Given the description of an element on the screen output the (x, y) to click on. 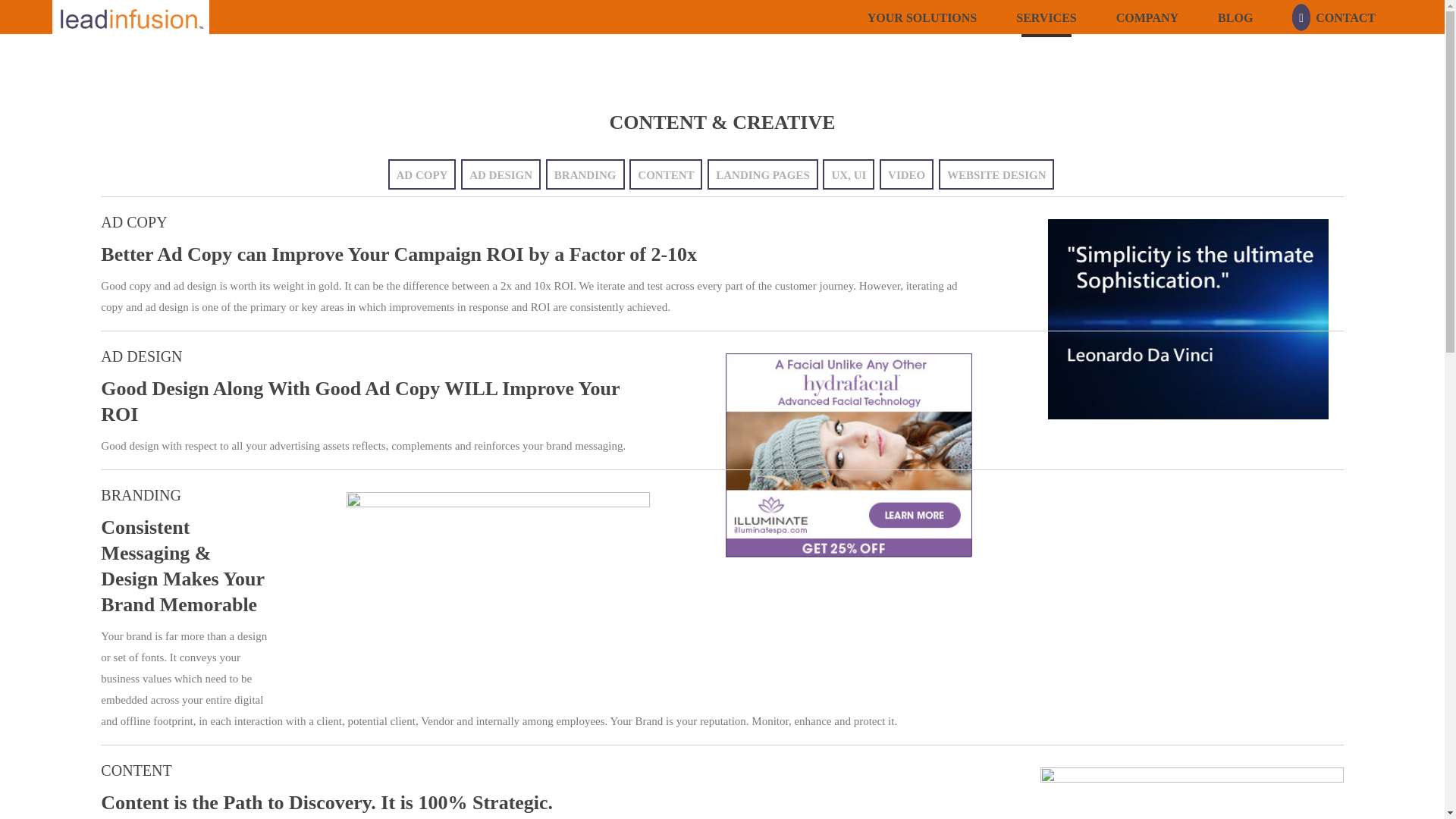
YOUR SOLUTIONS (921, 17)
AD COPY (422, 174)
BRANDING (585, 174)
LANDING PAGES (762, 174)
WEBSITE DESIGN (996, 174)
COMPANY (1147, 17)
UX, UI (848, 174)
VIDEO (905, 174)
CONTENT (665, 174)
AD DESIGN (500, 174)
